Given the description of an element on the screen output the (x, y) to click on. 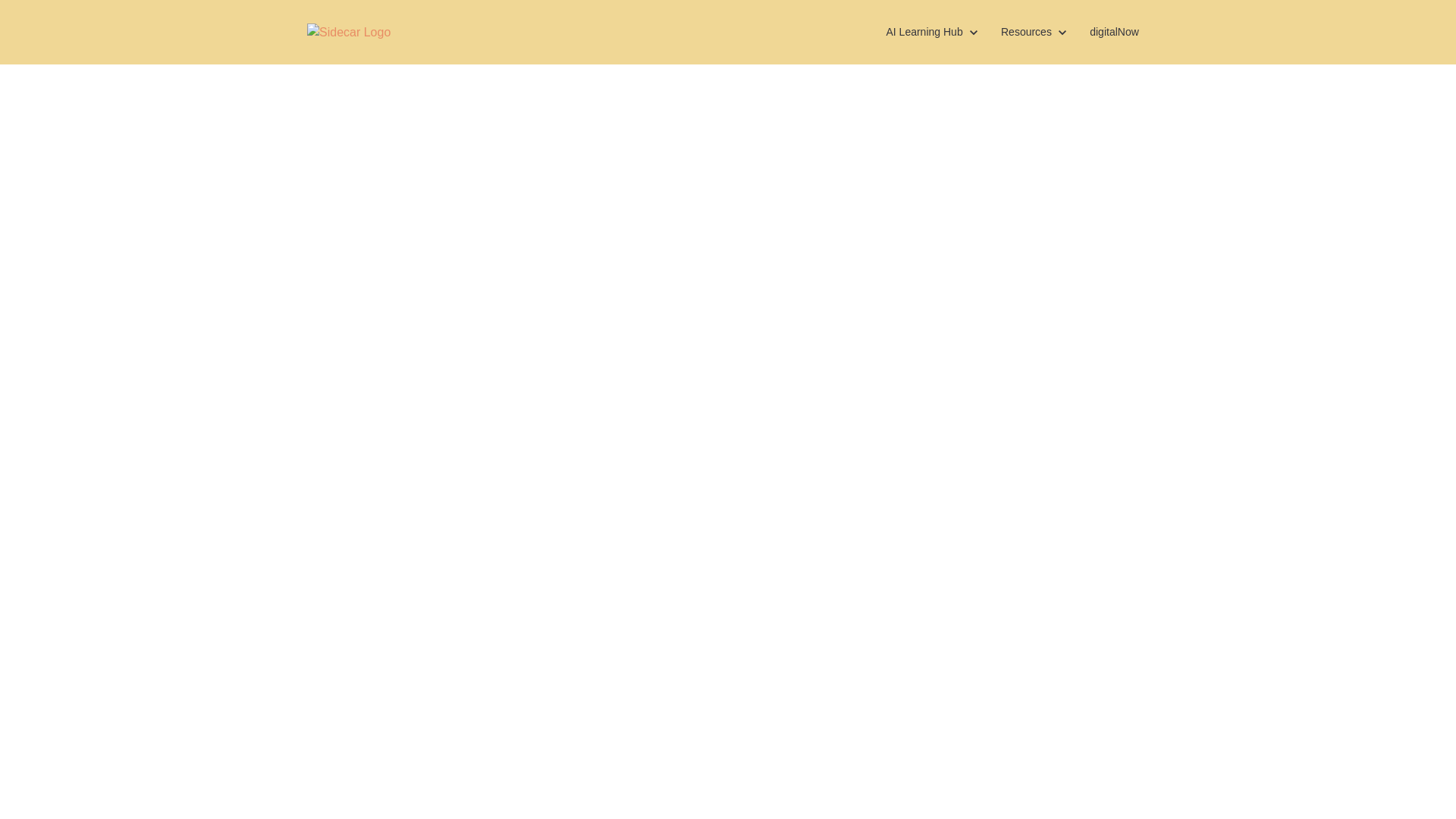
digitalNow (1114, 32)
